Given the description of an element on the screen output the (x, y) to click on. 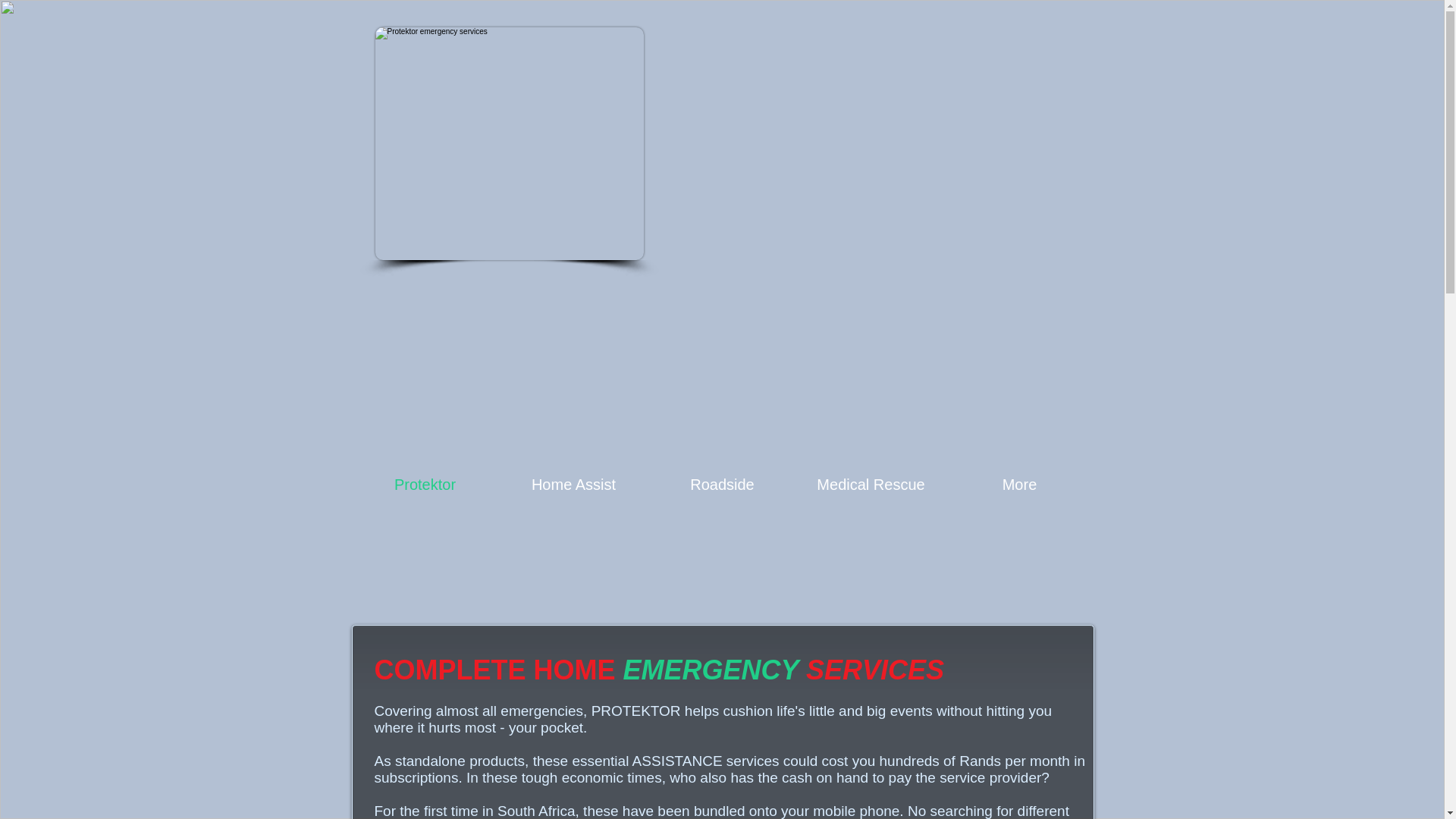
Protektor (508, 143)
Medical Rescue (870, 484)
Protektor (424, 484)
Home Assist (573, 484)
Roadside (721, 484)
